Given the description of an element on the screen output the (x, y) to click on. 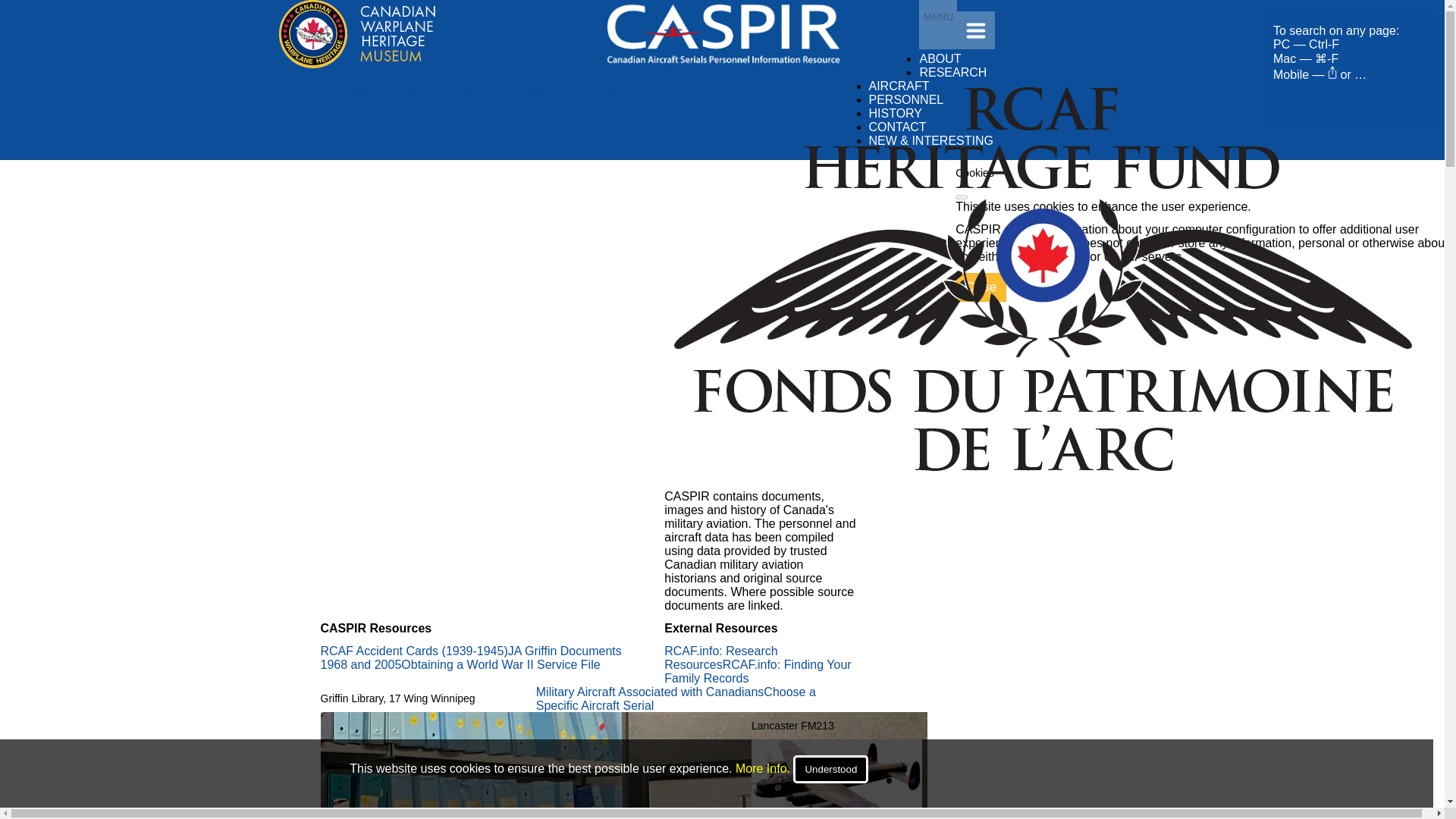
Our Team (456, 91)
CASPIR Volunteering (470, 98)
Return to our Home Page (357, 63)
Military Aircraft Associated with Canadians (649, 691)
HISTORY (896, 113)
Obtaining a World War II Service File (500, 664)
ABOUT (939, 58)
CASPIR Data Archive (379, 77)
JA Griffin Documents 1968 and 2005 (470, 657)
Refresh Page (724, 63)
RESEARCH (952, 72)
AIRCRAFT (899, 85)
PERSONNEL (906, 99)
RCAF.info: Finding Your Family Records (756, 671)
RCAF Assistance (529, 91)
